Given the description of an element on the screen output the (x, y) to click on. 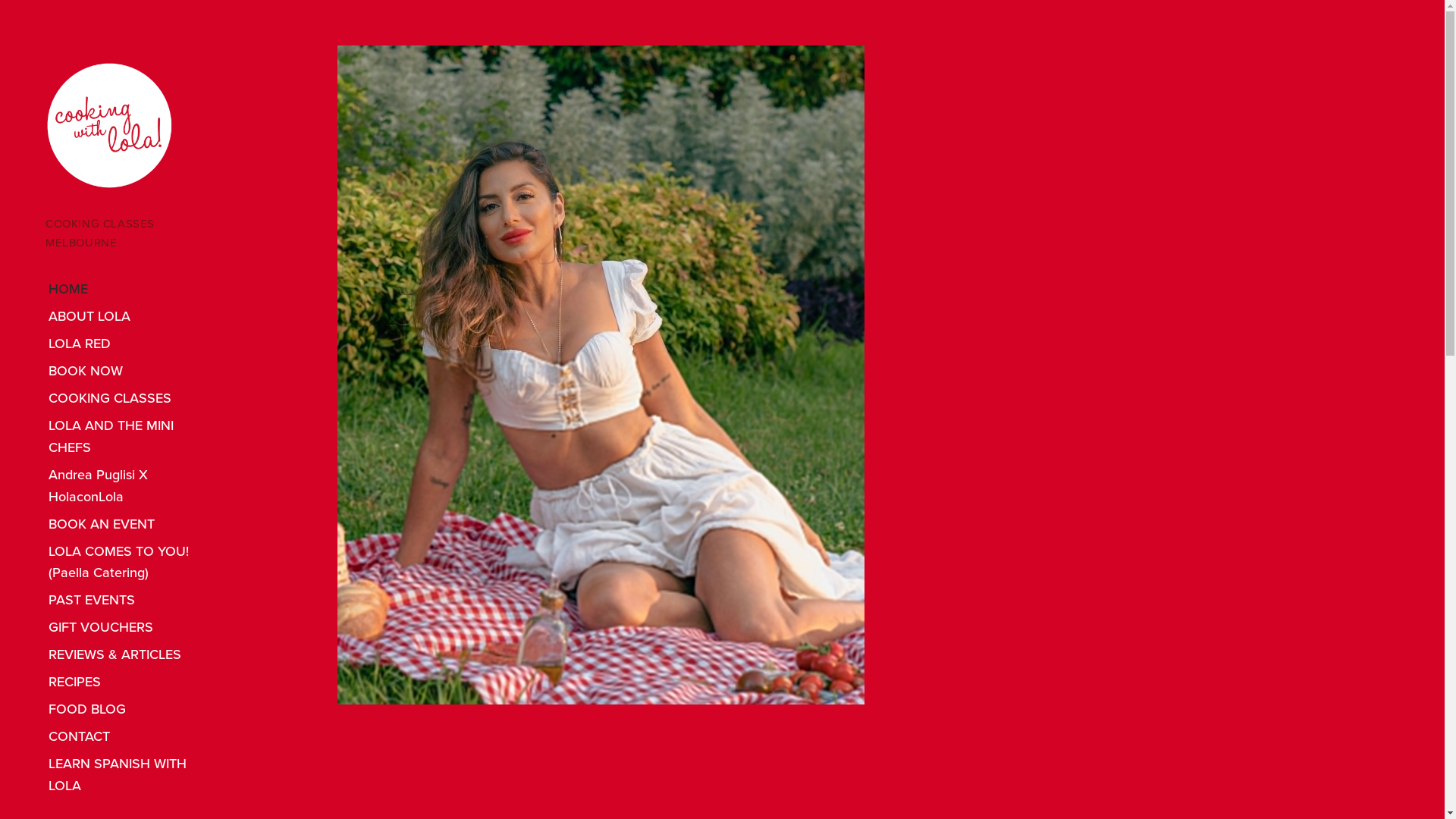
LOLA RED Element type: text (126, 343)
CONTACT Element type: text (126, 736)
Andrea Puglisi X HolaconLola Element type: text (126, 485)
LOLA COMES TO YOU! (Paella Catering) Element type: text (126, 561)
ABOUT LOLA Element type: text (126, 315)
REVIEWS & ARTICLES Element type: text (126, 654)
FOOD BLOG Element type: text (126, 709)
PAST EVENTS Element type: text (126, 600)
GIFT VOUCHERS Element type: text (126, 627)
BOOK AN EVENT Element type: text (126, 523)
LEARN SPANISH WITH LOLA Element type: text (126, 775)
BOOK NOW Element type: text (126, 370)
LOLA AND THE MINI CHEFS Element type: text (126, 436)
COOKING CLASSES Element type: text (126, 397)
RECIPES Element type: text (126, 682)
HOME Element type: text (126, 289)
